Given the description of an element on the screen output the (x, y) to click on. 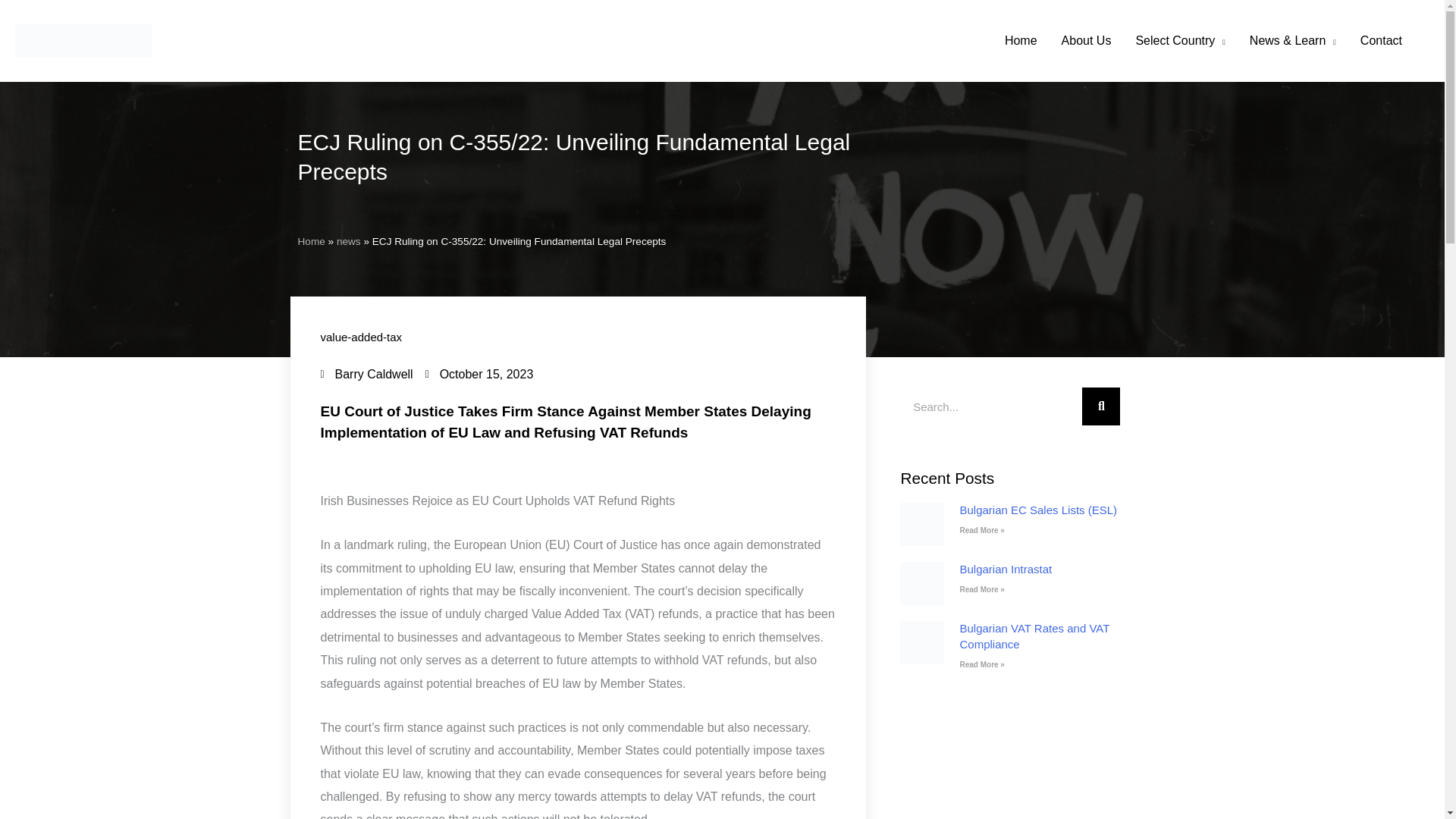
Contact (1380, 40)
About Us (1086, 40)
Home (1020, 40)
Select Country (1179, 40)
